Given the description of an element on the screen output the (x, y) to click on. 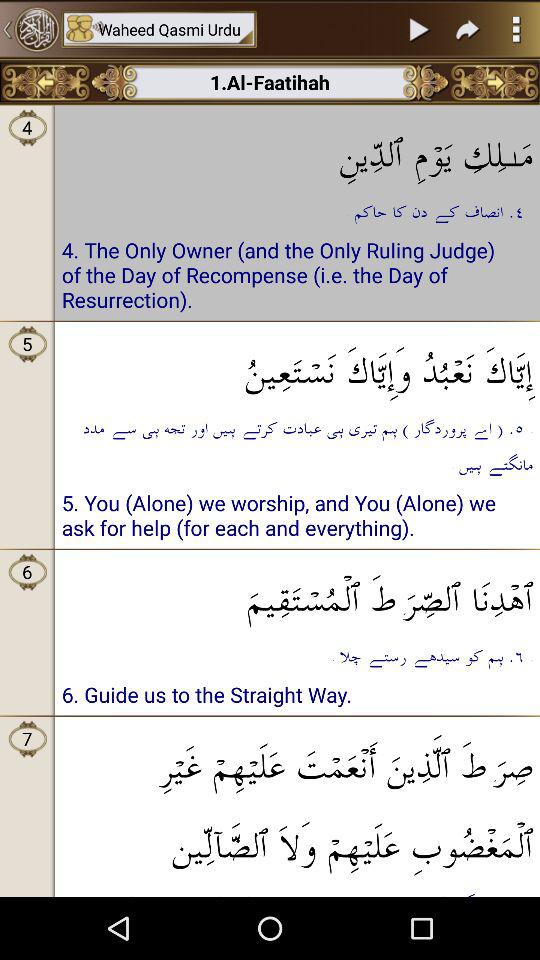
go next (468, 29)
